Given the description of an element on the screen output the (x, y) to click on. 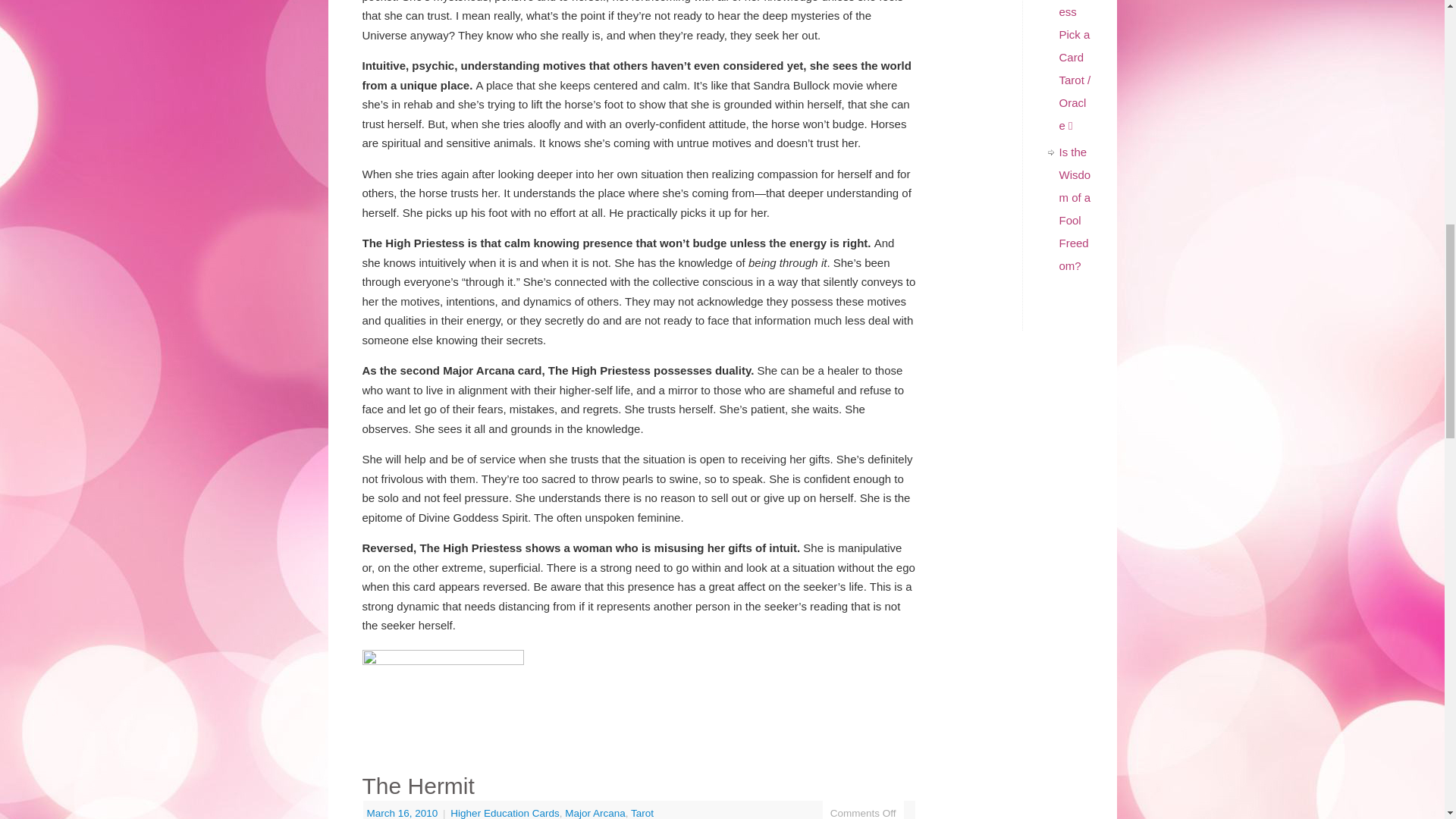
11:09 am (403, 813)
In Gratitude, Dionne (443, 687)
Permalink to The Hermit (418, 785)
